Given the description of an element on the screen output the (x, y) to click on. 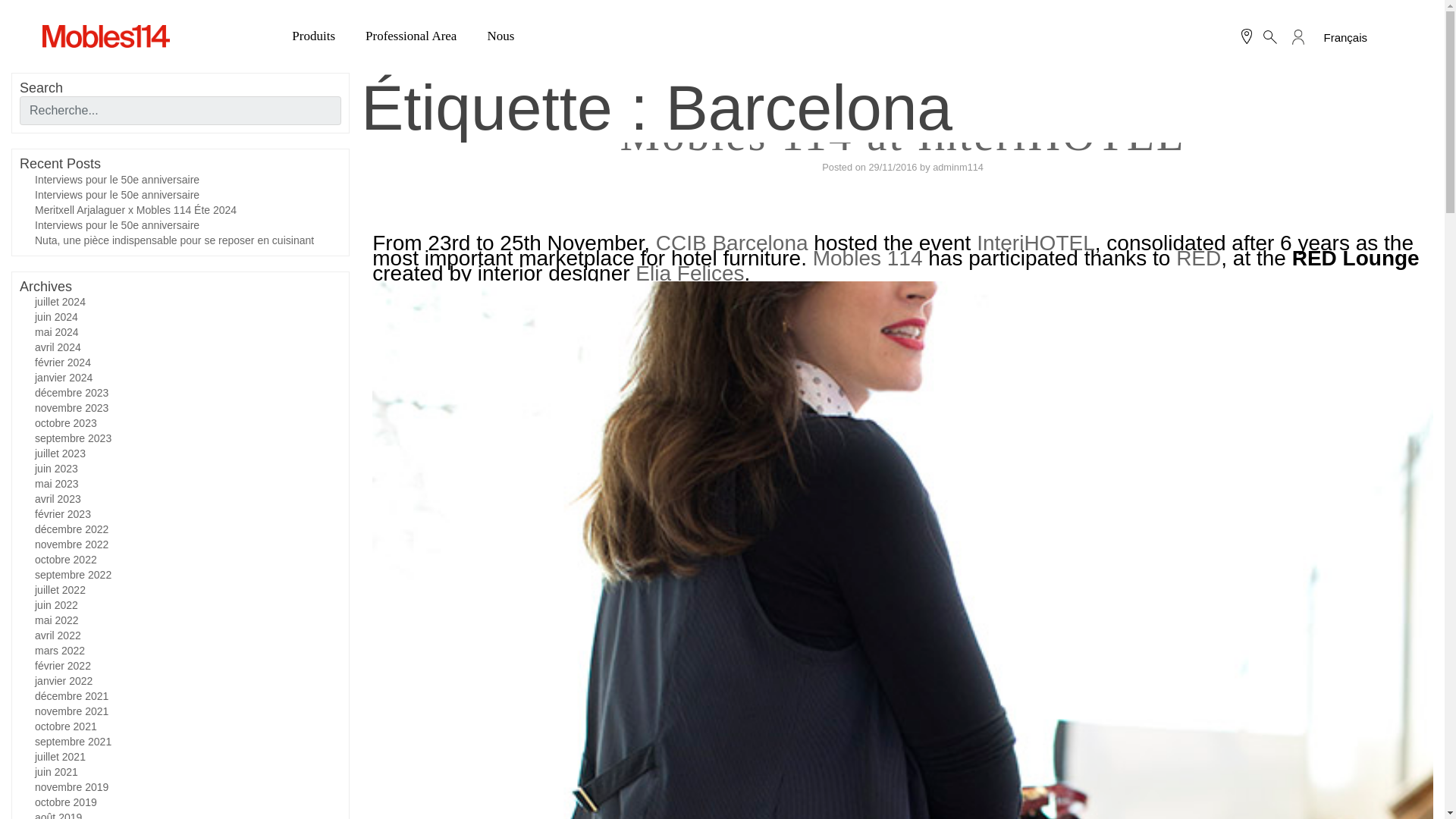
12:00 am (892, 166)
Produits (313, 36)
View all posts by adminm114 (958, 166)
Interviews pour le 50e anniversaire (116, 224)
octobre 2023 (65, 422)
Recherche... (180, 110)
Professional Area (410, 36)
Interviews pour le 50e anniversaire (116, 194)
janvier 2024 (63, 377)
septembre 2023 (73, 438)
